Given the description of an element on the screen output the (x, y) to click on. 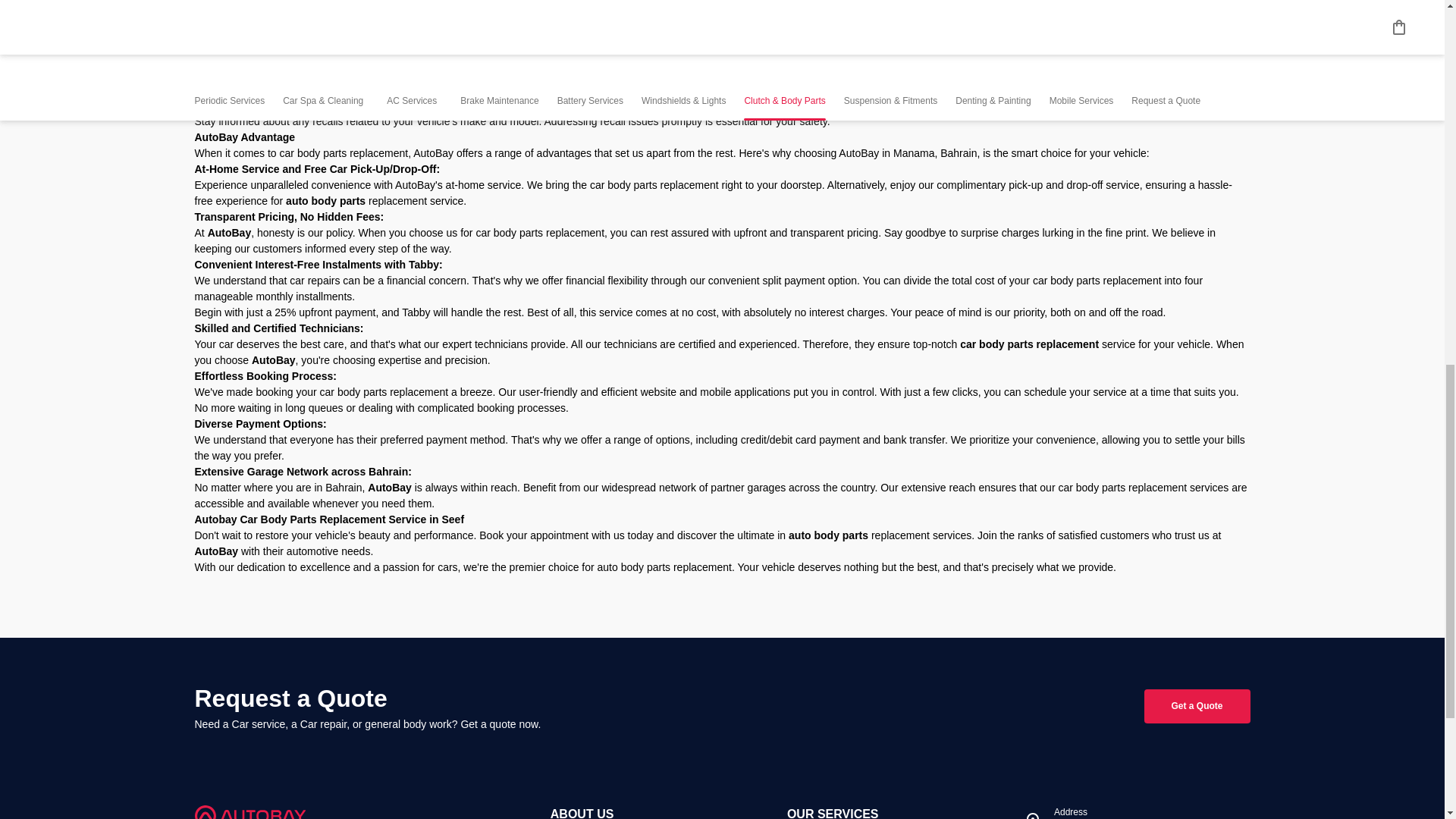
Get a Quote (1196, 706)
Get a Quote (1195, 706)
